Given the description of an element on the screen output the (x, y) to click on. 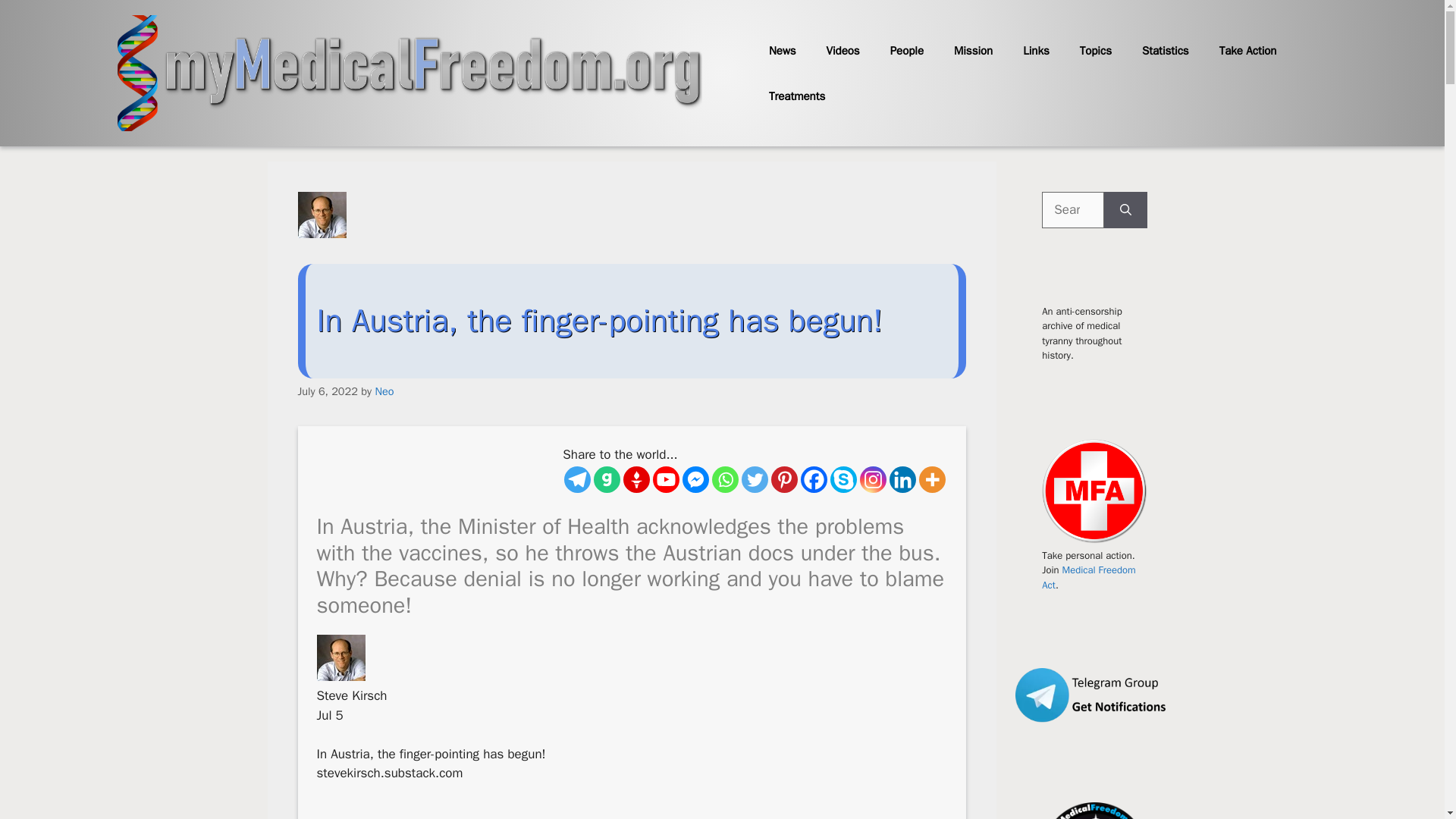
Gab (607, 479)
View all posts by Neo (383, 391)
Linkedin (902, 479)
Mission (973, 50)
Statistics (1165, 50)
Facebook (813, 479)
Whatsapp (724, 479)
Pinterest (784, 479)
More (931, 479)
Topics (1095, 50)
